Given the description of an element on the screen output the (x, y) to click on. 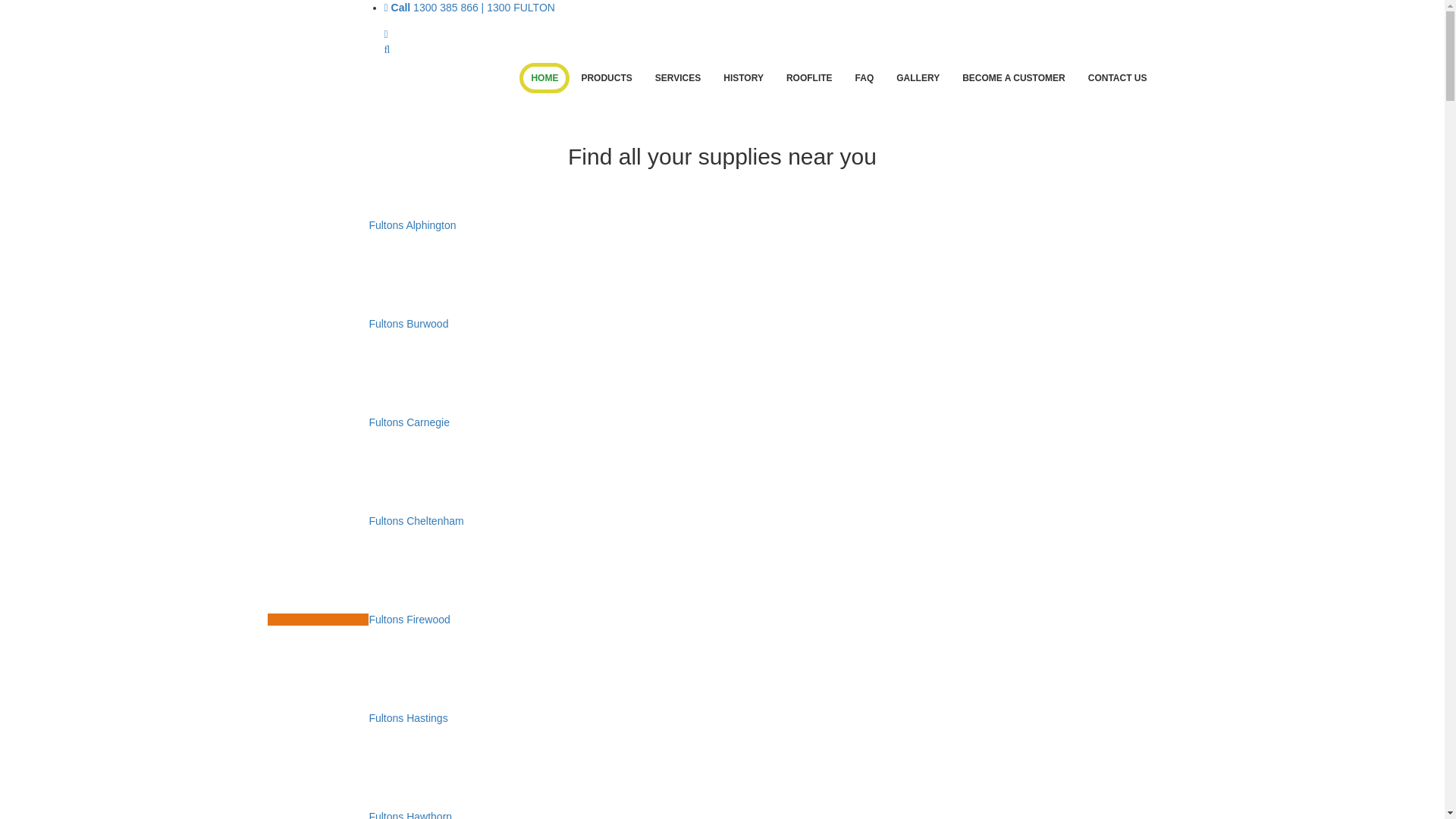
Building Supplies - CFulton Element type: hover (330, 68)
FAQ Element type: text (864, 77)
PRODUCTS Element type: text (606, 77)
cindyf@cfulton.com.au Element type: hover (385, 34)
Fultons Cheltenham Element type: hover (315, 521)
Fultons Firewood Element type: text (357, 619)
HISTORY Element type: text (743, 77)
Fultons Carnegie Element type: hover (315, 422)
HOME Element type: text (544, 77)
ROOFLITE Element type: text (809, 77)
Fultons Cheltenham Element type: text (364, 520)
Search Element type: hover (386, 49)
GALLERY Element type: text (917, 77)
Fultons Firewood Element type: hover (315, 620)
Call 1300 385 866 | 1300 FULTON Element type: text (468, 7)
Fultons Carnegie Element type: text (357, 422)
Fultons Hastings Element type: text (356, 718)
SERVICES Element type: text (677, 77)
BECOME A CUSTOMER Element type: text (1013, 77)
Fultons Burwood Element type: hover (315, 324)
Read More Element type: text (722, 83)
Fultons Burwood Element type: text (357, 323)
Fultons Hastings Element type: hover (315, 718)
Fultons Alphington Element type: text (360, 225)
CONTACT US Element type: text (1117, 77)
Fultons Alphington Element type: hover (315, 225)
Building Supplies Element type: hover (329, 68)
